Given the description of an element on the screen output the (x, y) to click on. 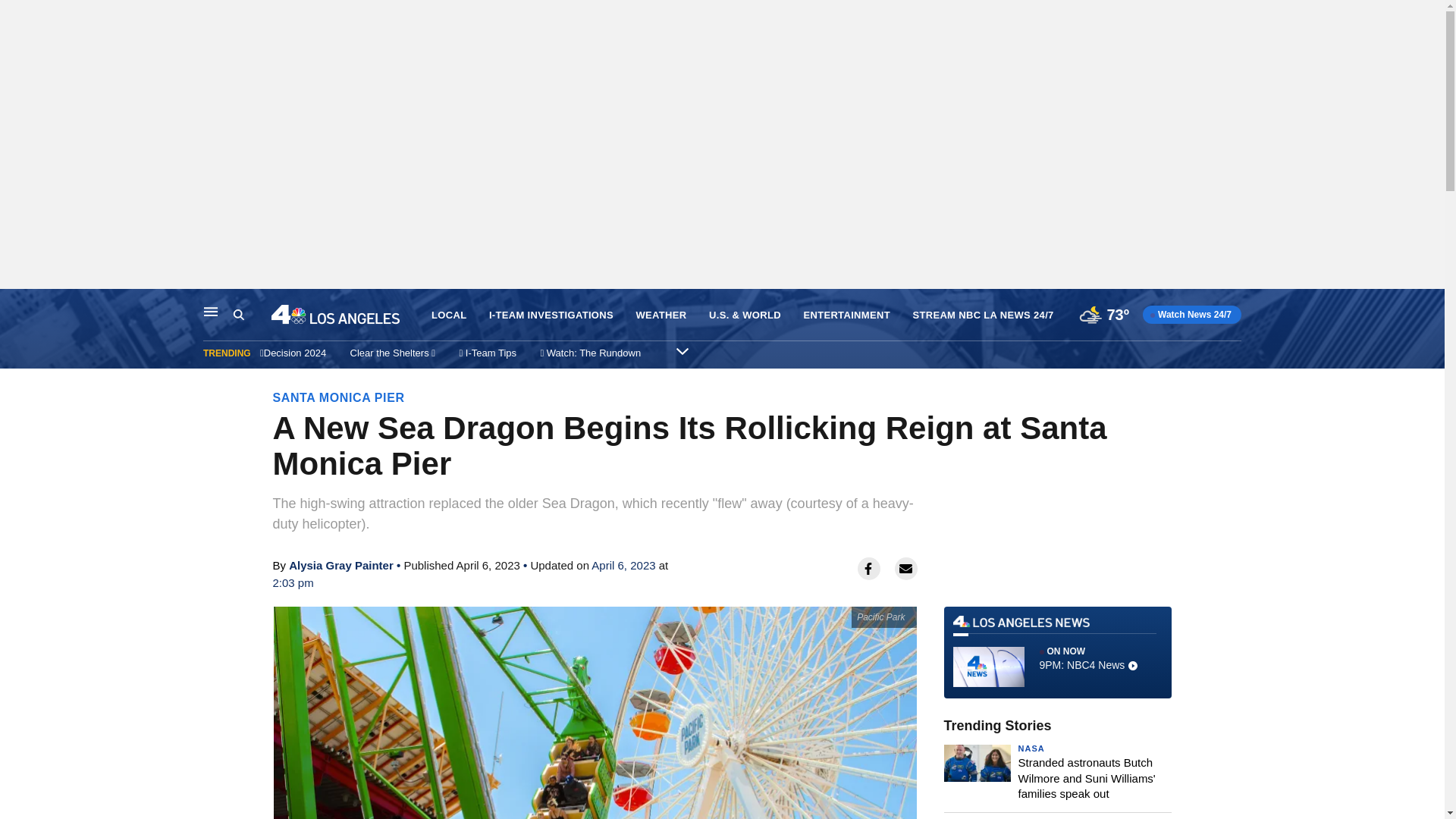
LOCAL (447, 315)
Search (238, 314)
ENTERTAINMENT (846, 315)
Expand (682, 350)
Alysia Gray Painter (340, 564)
Skip to content (16, 304)
Search (252, 314)
SANTA MONICA PIER (338, 397)
WEATHER (659, 315)
